Given the description of an element on the screen output the (x, y) to click on. 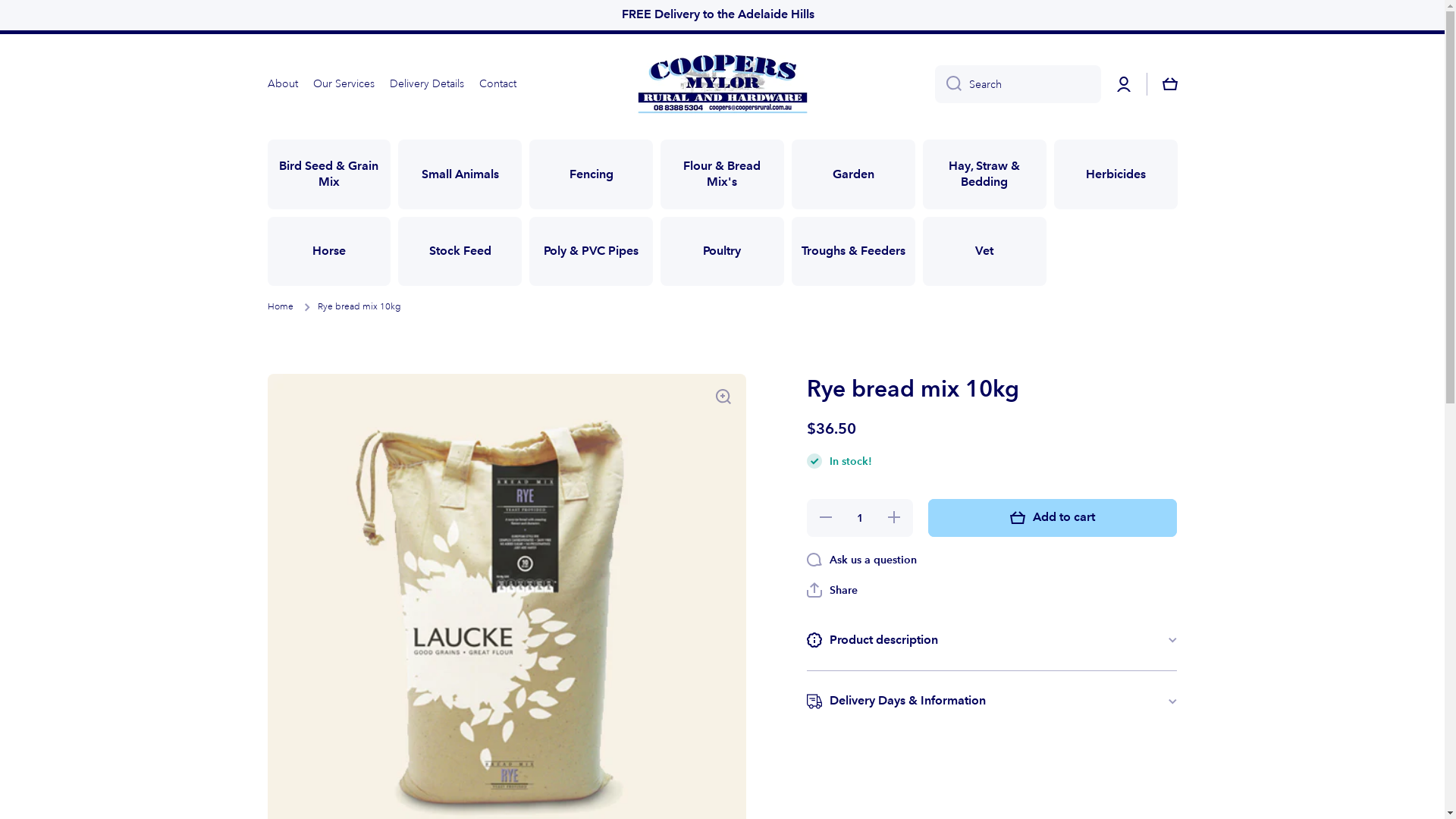
Garden Element type: text (853, 174)
Log in Element type: text (1123, 83)
Home Element type: text (279, 307)
Small Animals Element type: text (459, 174)
https://www.coopersmylor.com.au/products/rye Element type: text (991, 628)
Flour & Bread Mix's Element type: text (722, 174)
Delivery Details Element type: text (426, 83)
Herbicides Element type: text (1115, 174)
Cart Element type: text (1168, 83)
Poly & PVC Pipes Element type: text (590, 251)
Increase quantity for Rye bread mix 10kg Element type: text (894, 517)
Ask us a question Element type: text (861, 559)
Horse Element type: text (328, 251)
Decrease quantity for Rye bread mix 10kg Element type: text (824, 517)
Contact Element type: text (497, 83)
Hay, Straw & Bedding Element type: text (984, 174)
Our Services Element type: text (342, 83)
Vet Element type: text (984, 251)
Poultry Element type: text (722, 251)
Troughs & Feeders Element type: text (853, 251)
Add to cart Element type: text (1052, 517)
Bird Seed & Grain Mix Element type: text (328, 174)
Stock Feed Element type: text (459, 251)
About Element type: text (281, 83)
Skip to product information Element type: text (266, 373)
Fencing Element type: text (590, 174)
